Given the description of an element on the screen output the (x, y) to click on. 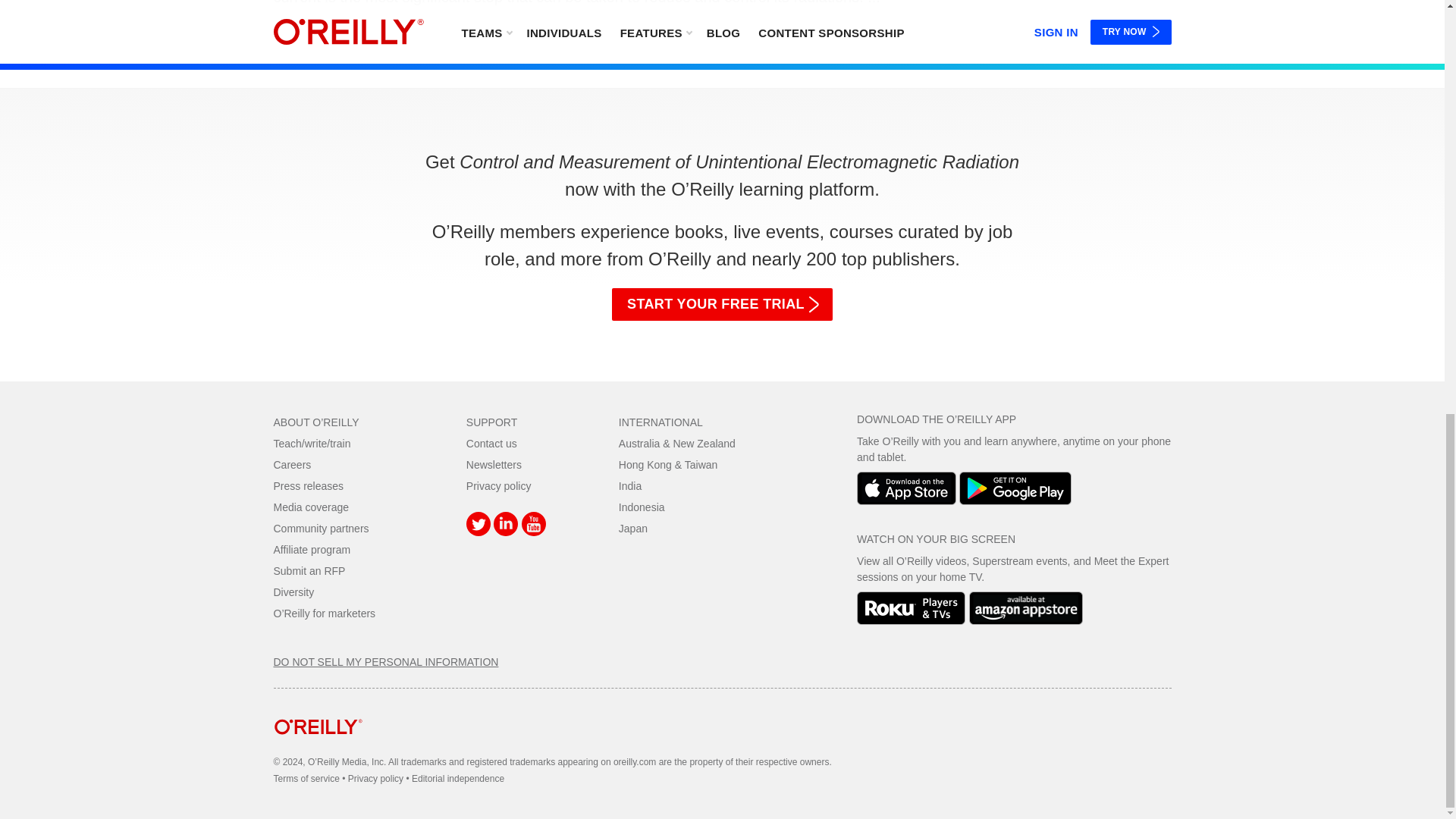
Careers (292, 464)
START YOUR FREE TRIAL (721, 304)
Press releases (308, 485)
Newsletters (493, 464)
SUPPORT (490, 422)
Community partners (320, 528)
home page (317, 745)
Submit an RFP (309, 571)
Media coverage (311, 507)
Contact us (490, 443)
Affiliate program (311, 549)
Diversity (293, 592)
